Given the description of an element on the screen output the (x, y) to click on. 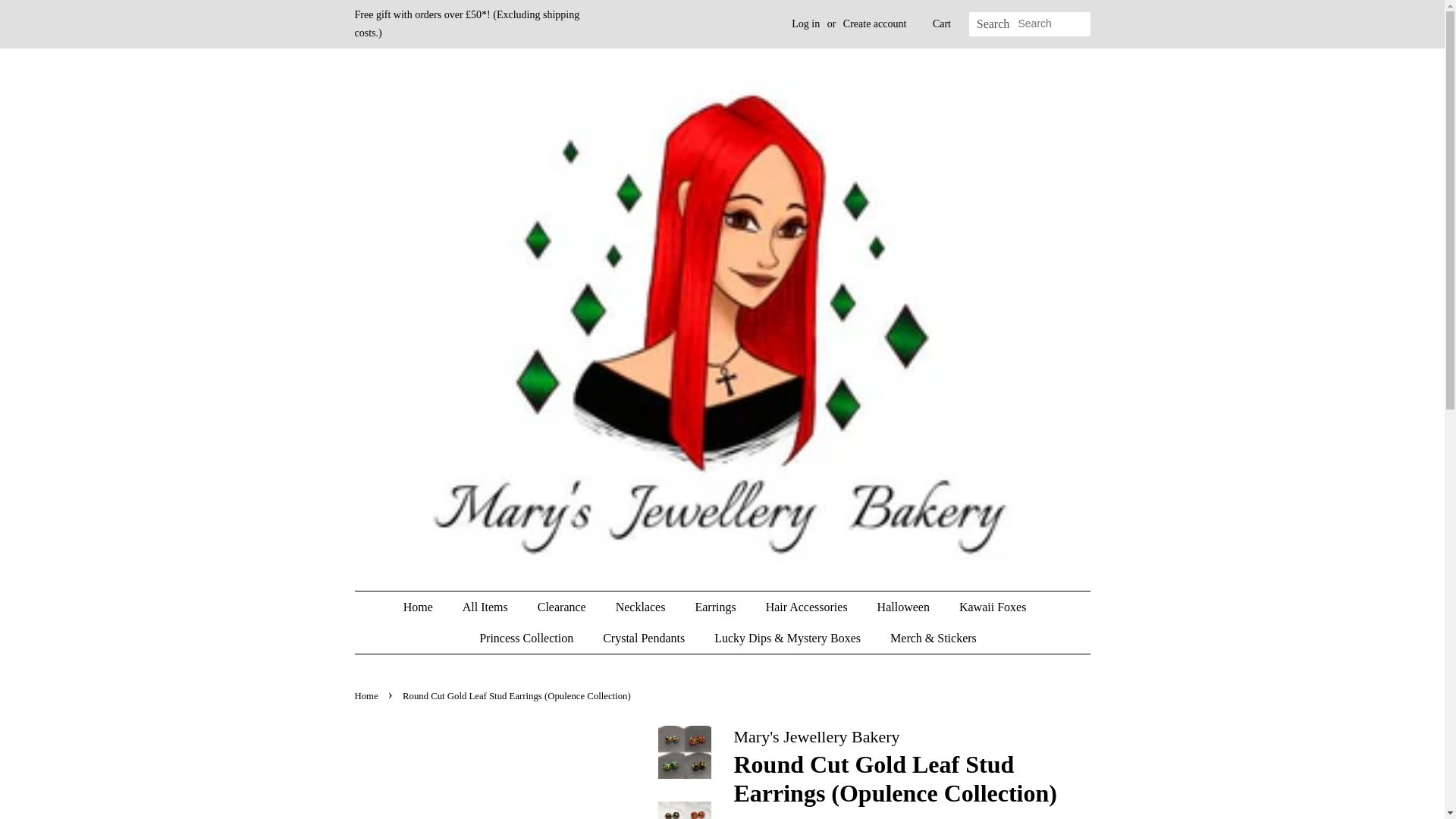
All Items (486, 606)
Hair Accessories (808, 606)
Cart (941, 24)
Princess Collection (527, 637)
Clearance (563, 606)
Back to the frontpage (368, 696)
Halloween (905, 606)
Search (993, 24)
Home (368, 696)
Create account (875, 23)
Necklaces (642, 606)
Home (425, 606)
Earrings (716, 606)
Log in (805, 23)
Kawaii Foxes (994, 606)
